Given the description of an element on the screen output the (x, y) to click on. 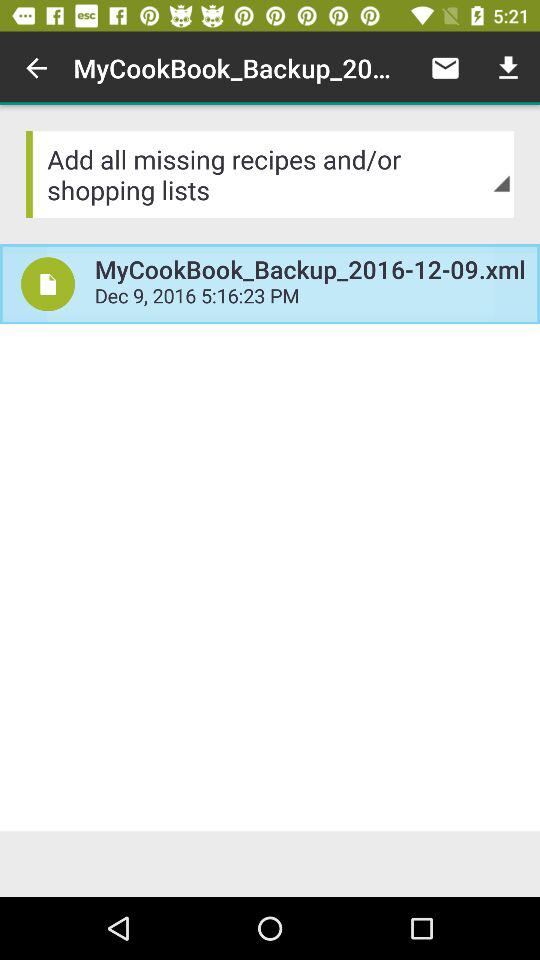
select the item below the add all missing item (48, 284)
